Given the description of an element on the screen output the (x, y) to click on. 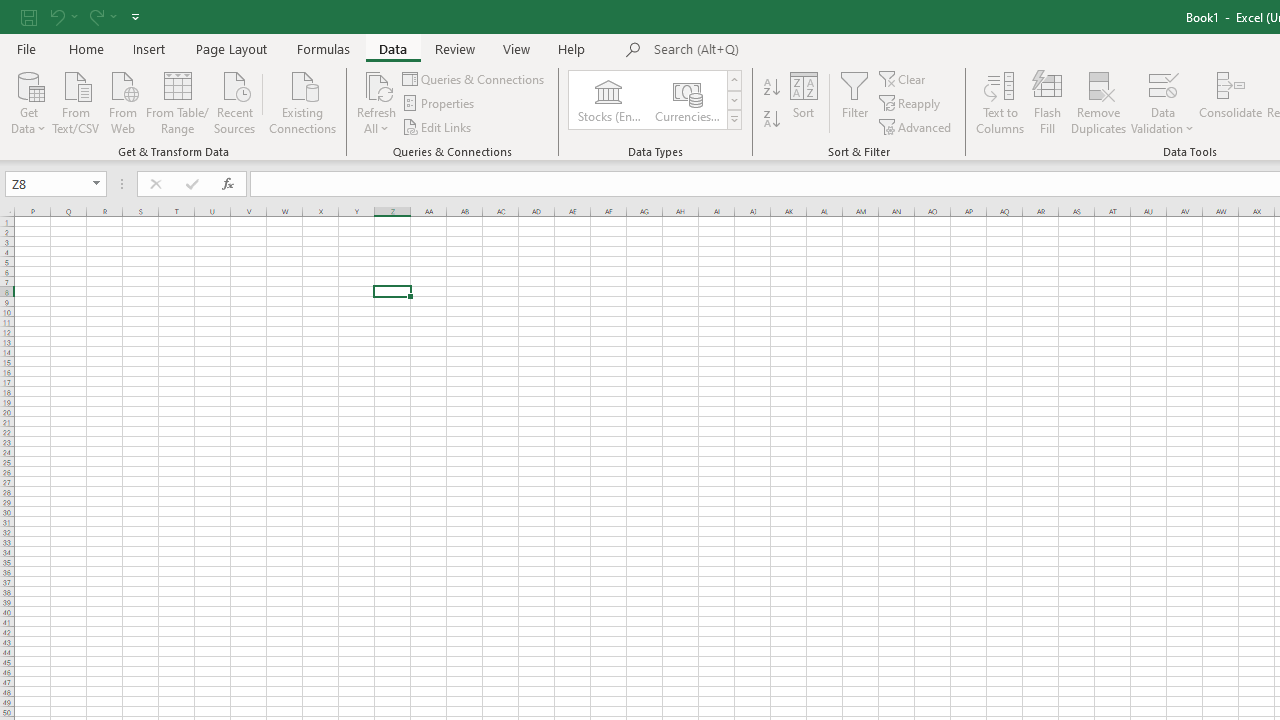
Data Validation... (1162, 84)
Currencies (English) (686, 100)
Formulas (323, 48)
Clear (903, 78)
Data Types (734, 120)
Review (454, 48)
From Table/Range (177, 101)
Data (392, 48)
Sort... (804, 102)
View (517, 48)
AutomationID: ConvertToLinkedEntity (655, 99)
From Web (122, 101)
